Given the description of an element on the screen output the (x, y) to click on. 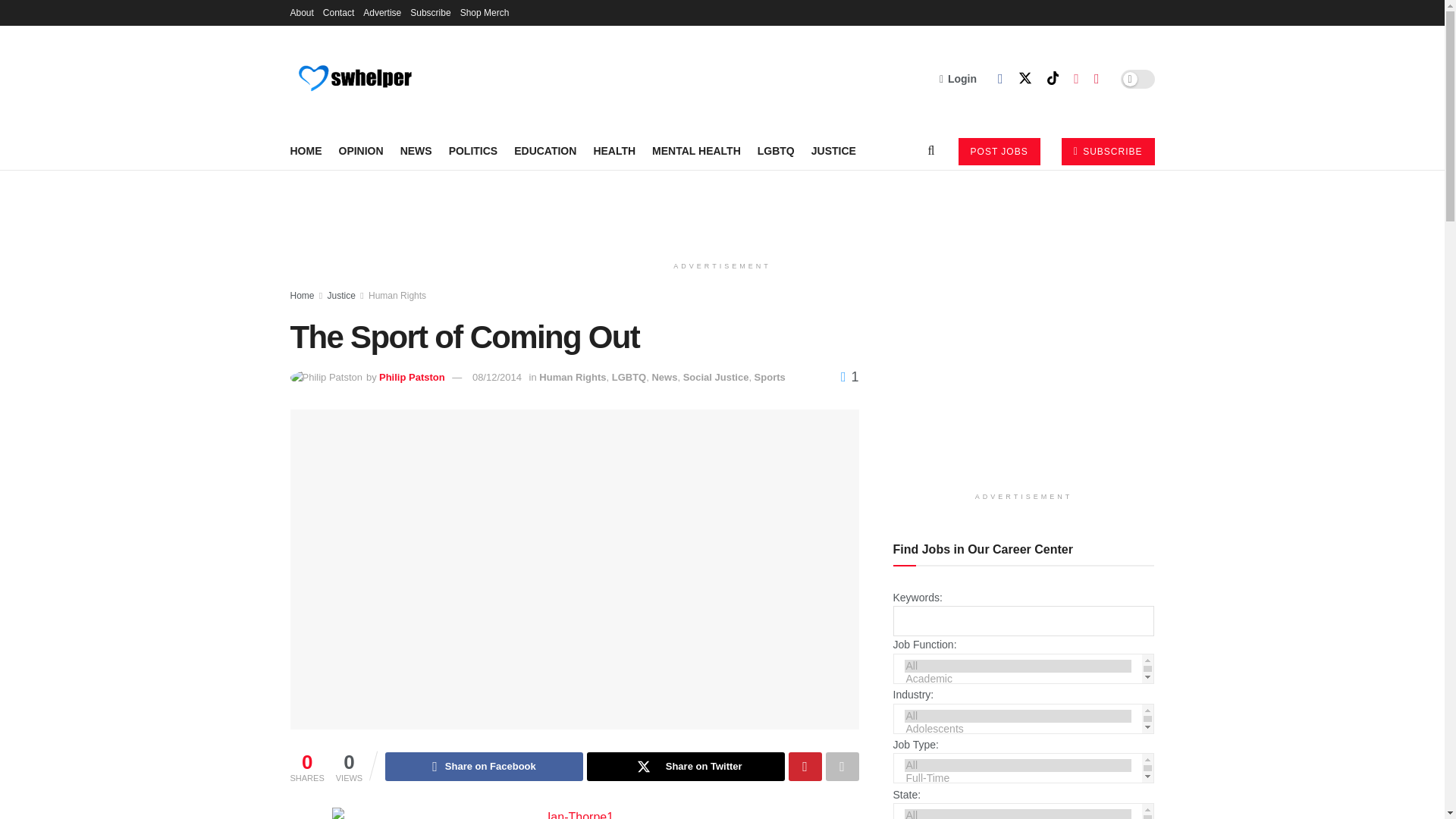
Login (957, 78)
POLITICS (472, 150)
Subscribe (429, 12)
Shop Merch (484, 12)
HOME (305, 150)
HEALTH (613, 150)
Advertise (381, 12)
LGBTQ (775, 150)
OPINION (359, 150)
About (301, 12)
